Given the description of an element on the screen output the (x, y) to click on. 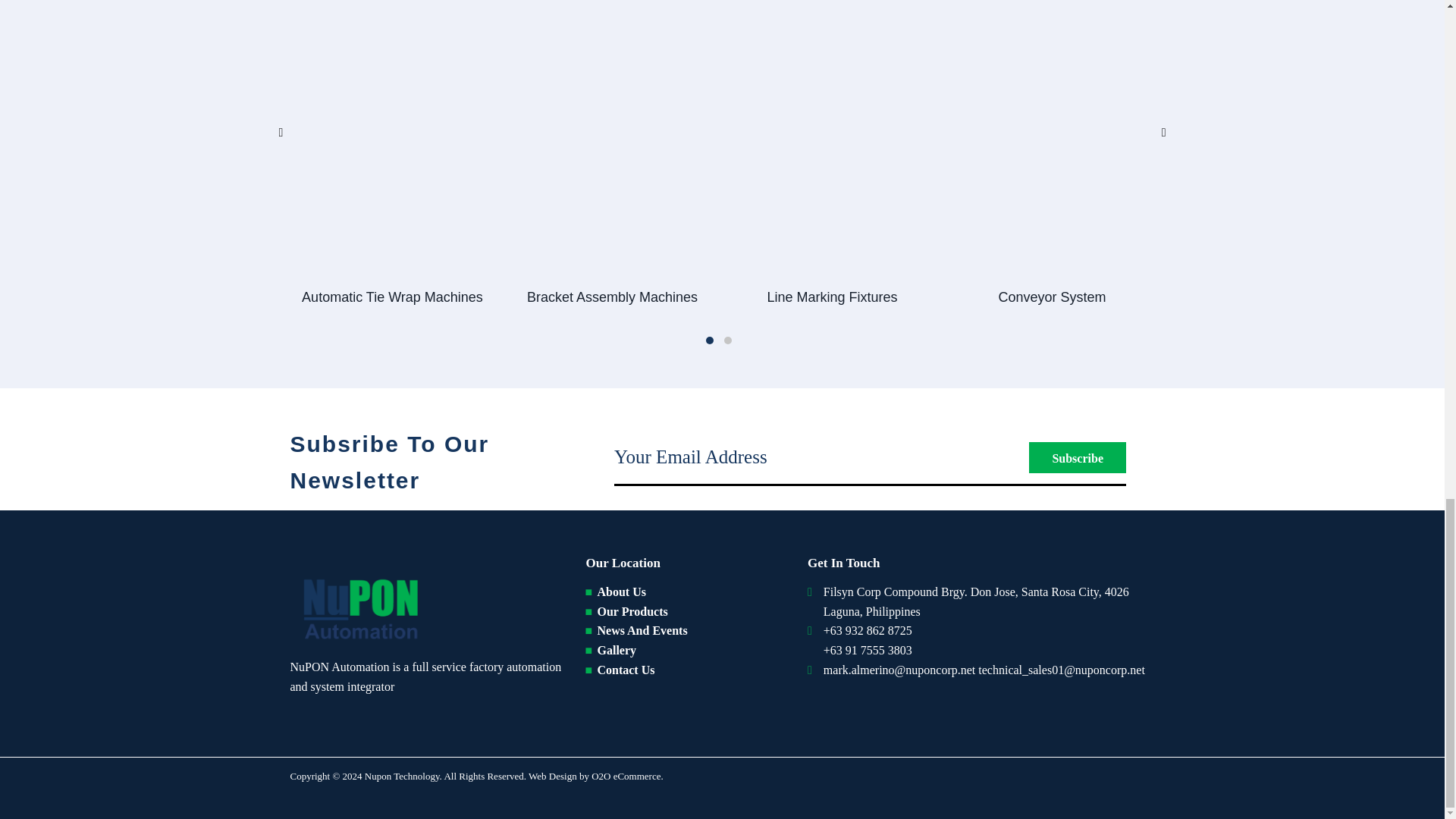
Conveyor System (1051, 296)
Line Marking Fixtures (831, 296)
Bracket Assembly Machines (611, 296)
Nupon Automation (357, 607)
Automatic Tie Wrap Machines (391, 296)
